Given the description of an element on the screen output the (x, y) to click on. 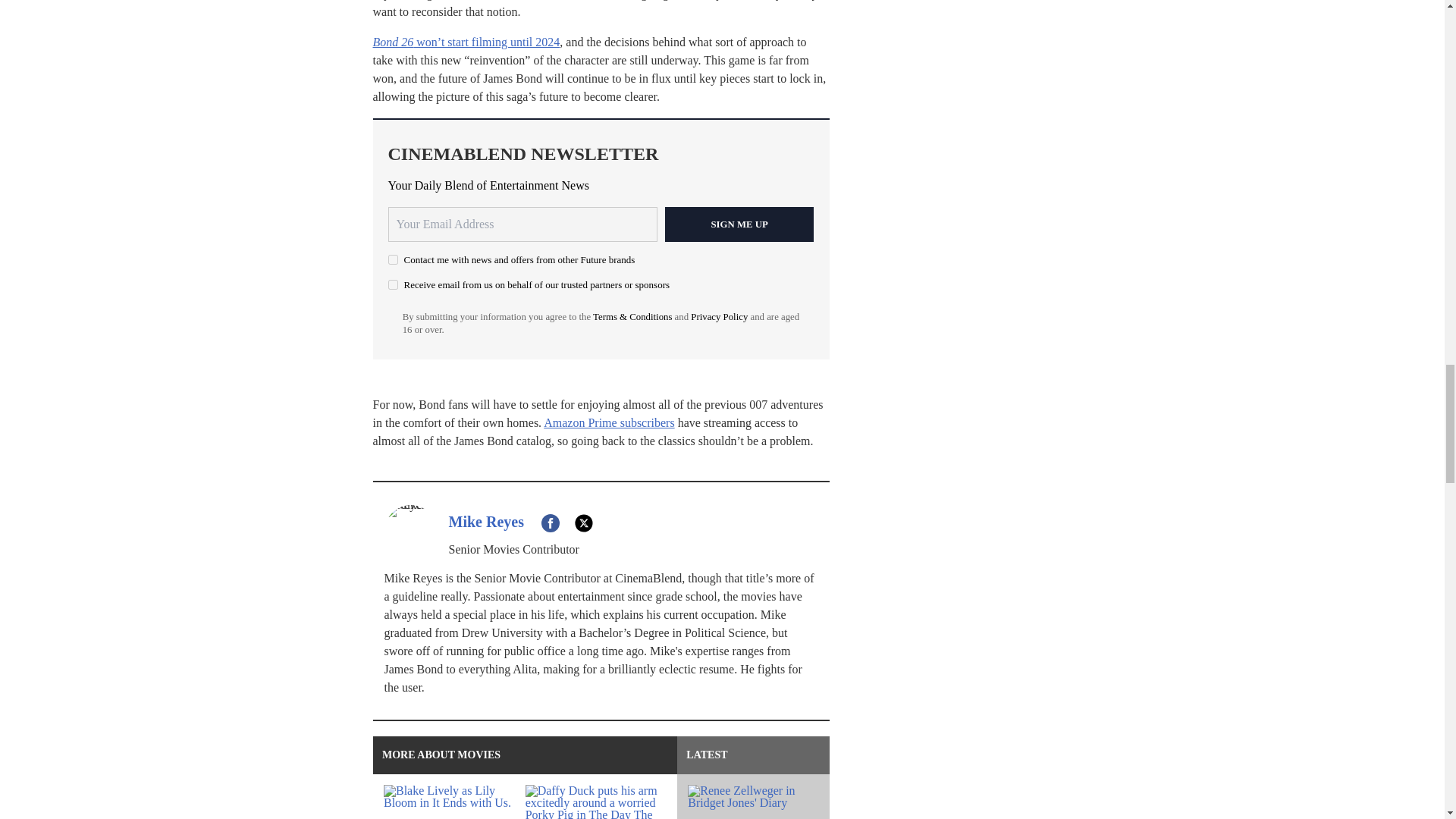
on (392, 259)
on (392, 284)
Sign me up (739, 224)
